Given the description of an element on the screen output the (x, y) to click on. 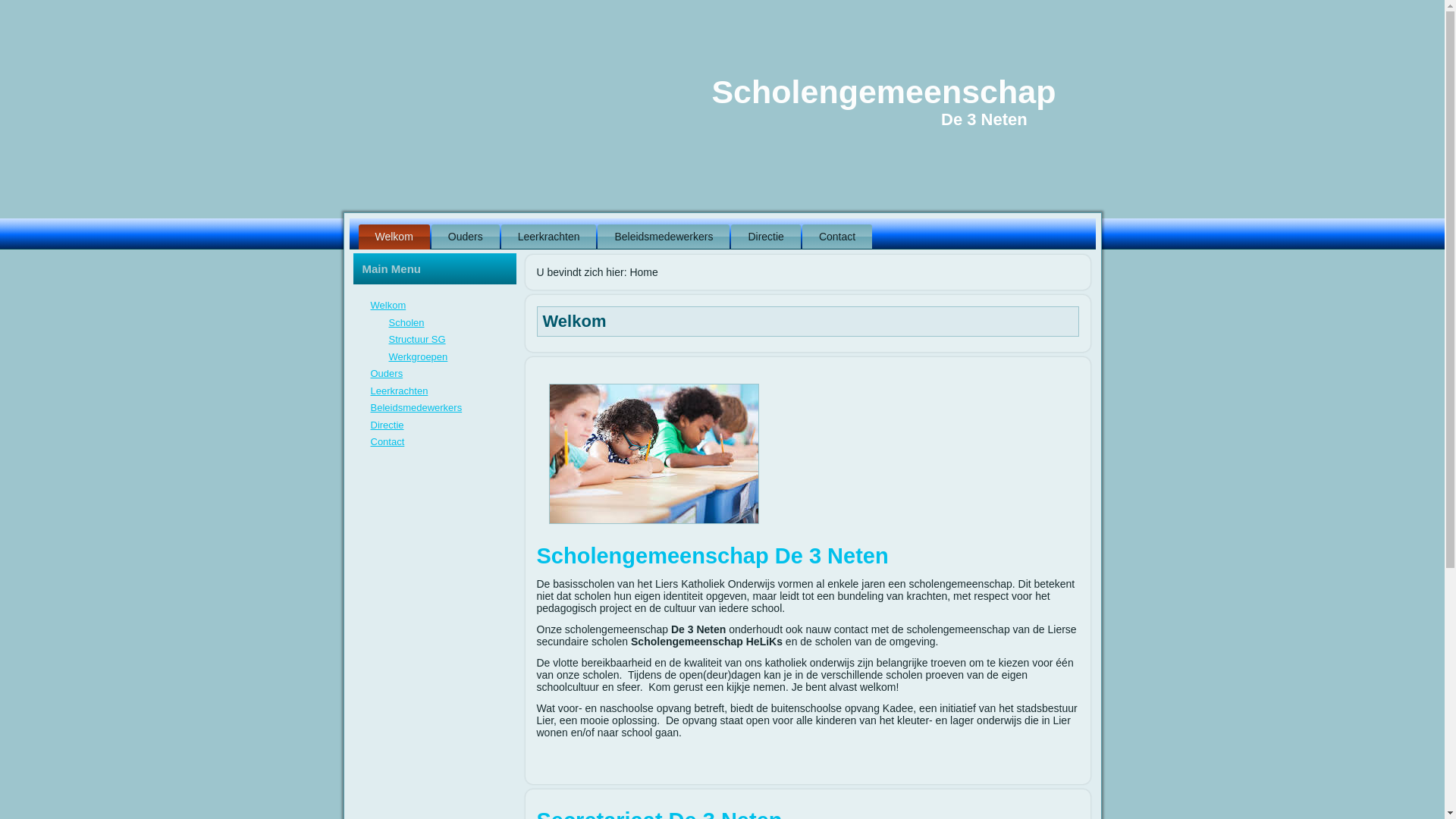
Leerkrachten Element type: text (548, 236)
Beleidsmedewerkers Element type: text (663, 236)
Structuur SG Element type: text (416, 339)
Leerkrachten Element type: text (398, 390)
Scholengemeenschap Element type: text (883, 91)
Welkom Element type: text (393, 236)
Werkgroepen Element type: text (417, 355)
Ouders Element type: text (465, 236)
Scholen Element type: text (405, 322)
Contact Element type: text (387, 441)
Ouders Element type: text (386, 373)
Directie Element type: text (386, 423)
Directie Element type: text (765, 236)
Contact Element type: text (837, 236)
Beleidsmedewerkers Element type: text (415, 407)
Welkom Element type: text (387, 304)
